Given the description of an element on the screen output the (x, y) to click on. 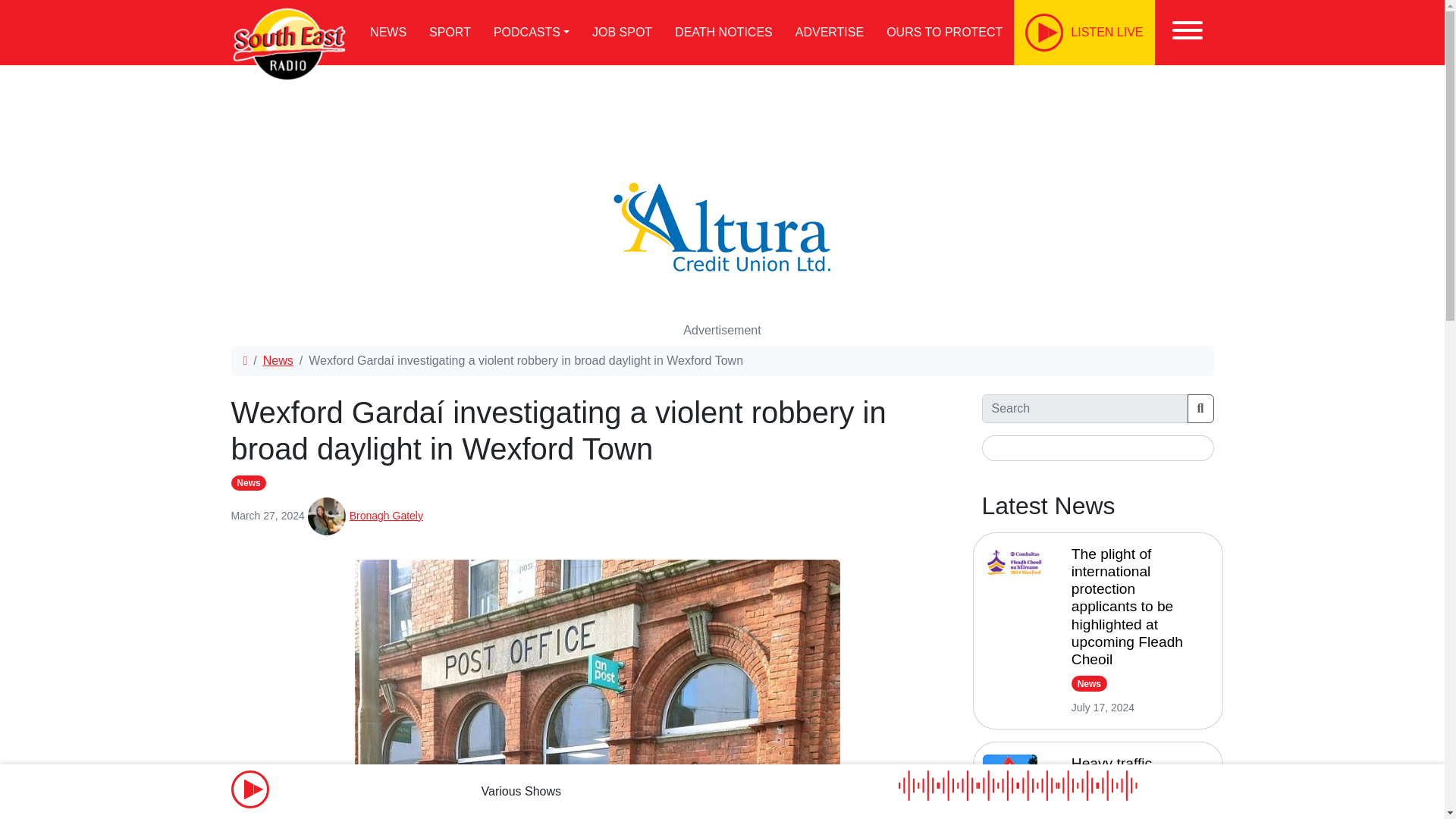
DEATH NOTICES (723, 32)
SPORT (449, 32)
OURS TO PROTECT (944, 32)
News (248, 482)
PODCASTS (530, 32)
ADVERTISE (829, 32)
NEWS (387, 32)
Bronagh Gately (386, 515)
News (278, 359)
LISTEN LIVE (1083, 32)
JOB SPOT (621, 32)
